Given the description of an element on the screen output the (x, y) to click on. 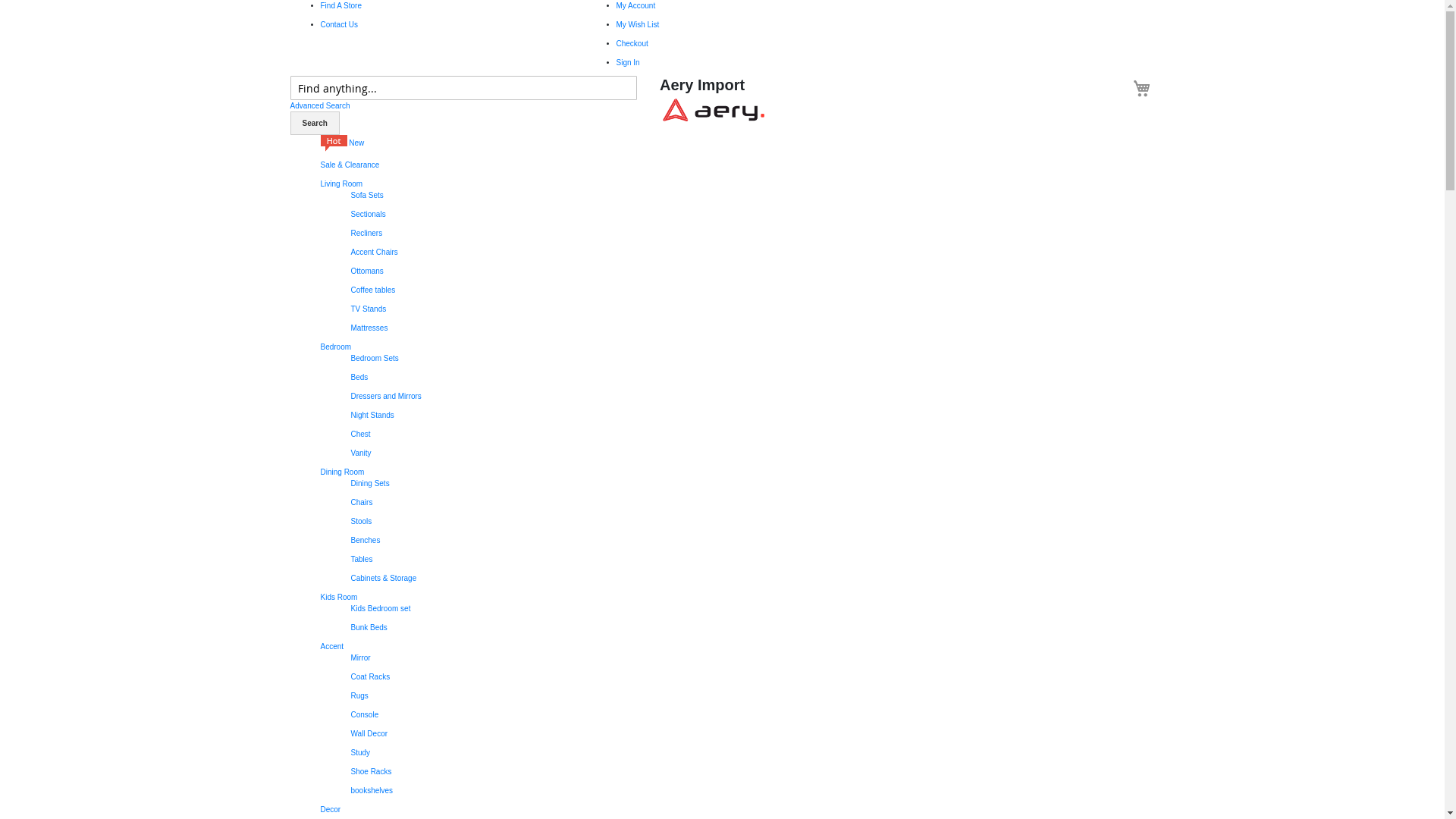
Advanced Search Element type: text (319, 105)
Chairs Element type: text (361, 502)
Bedroom Element type: text (335, 346)
Accent Chairs Element type: text (373, 251)
Wall Decor Element type: text (368, 733)
Recliners Element type: text (366, 233)
Checkout Element type: text (631, 43)
Dining Sets Element type: text (369, 483)
Living Room Element type: text (341, 183)
Shoe Racks Element type: text (370, 771)
Study Element type: text (360, 752)
Find A Store Element type: text (340, 5)
Sectionals Element type: text (367, 214)
Night Stands Element type: text (371, 415)
Search Element type: text (313, 122)
Beds Element type: text (358, 377)
Tables Element type: text (361, 559)
Kids Bedroom set Element type: text (380, 608)
Vanity Element type: text (360, 452)
Bedroom Sets Element type: text (374, 358)
Console Element type: text (364, 714)
Benches Element type: text (364, 540)
Cabinets & Storage Element type: text (383, 578)
Dining Room Element type: text (342, 471)
Dressers and Mirrors Element type: text (385, 396)
Sale & Clearance Element type: text (349, 164)
Contact Us Element type: text (338, 24)
TV Stands Element type: text (367, 308)
Kids Room Element type: text (338, 597)
bookshelves Element type: text (371, 790)
Aery Import Element type: hover (713, 110)
New Element type: text (342, 142)
Stools Element type: text (360, 521)
Sofa Sets Element type: text (366, 195)
Coat Racks Element type: text (369, 676)
Ottomans Element type: text (366, 270)
My Wish List Element type: text (636, 24)
Rugs Element type: text (358, 695)
Bunk Beds Element type: text (368, 627)
Coffee tables Element type: text (372, 289)
Mirror Element type: text (360, 657)
Sign In Element type: text (627, 62)
Accent Element type: text (331, 646)
Chest Element type: text (360, 433)
My Account Element type: text (635, 5)
Aery Import Element type: hover (713, 108)
Mattresses Element type: text (368, 327)
Decor Element type: text (330, 809)
